Given the description of an element on the screen output the (x, y) to click on. 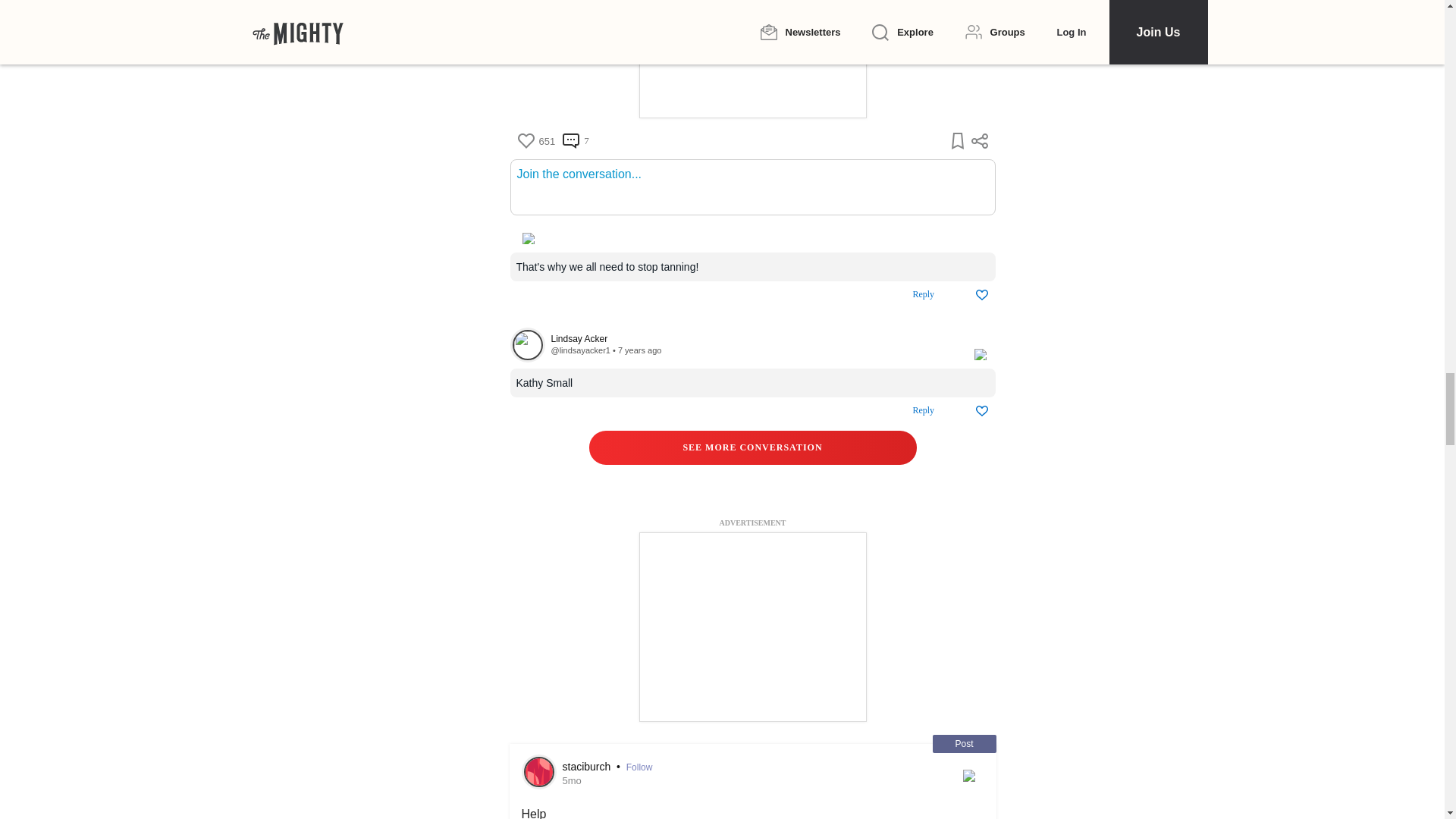
Visit staciburch's profile (537, 771)
March 18, 2024 (571, 780)
View their profile (580, 349)
View their profile (526, 344)
View their profile (754, 338)
651 (535, 140)
